Given the description of an element on the screen output the (x, y) to click on. 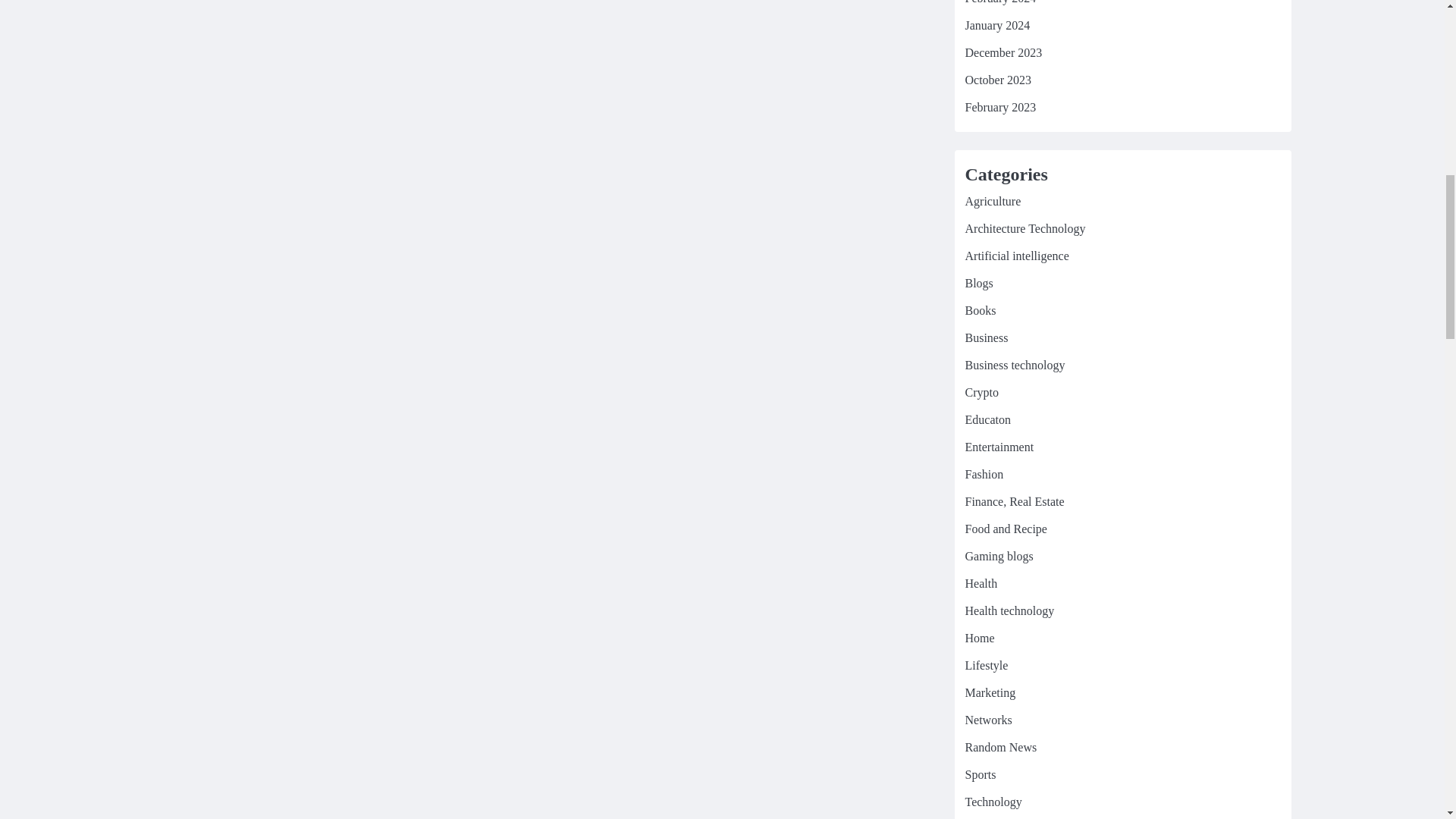
January 2024 (996, 24)
December 2023 (1002, 51)
February 2024 (999, 2)
